Given the description of an element on the screen output the (x, y) to click on. 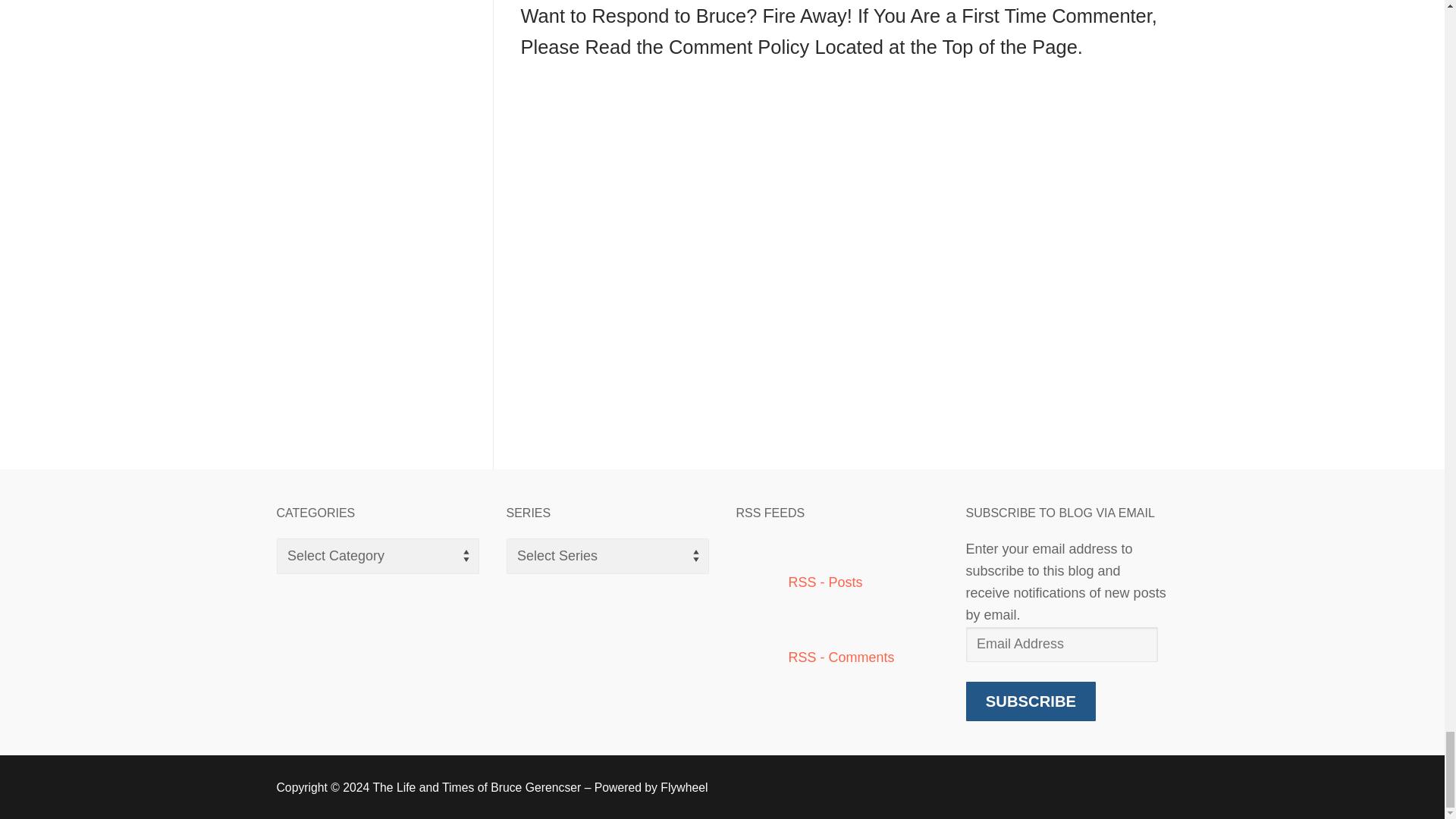
Subscribe to comments (814, 657)
Subscribe to posts (798, 581)
